Given the description of an element on the screen output the (x, y) to click on. 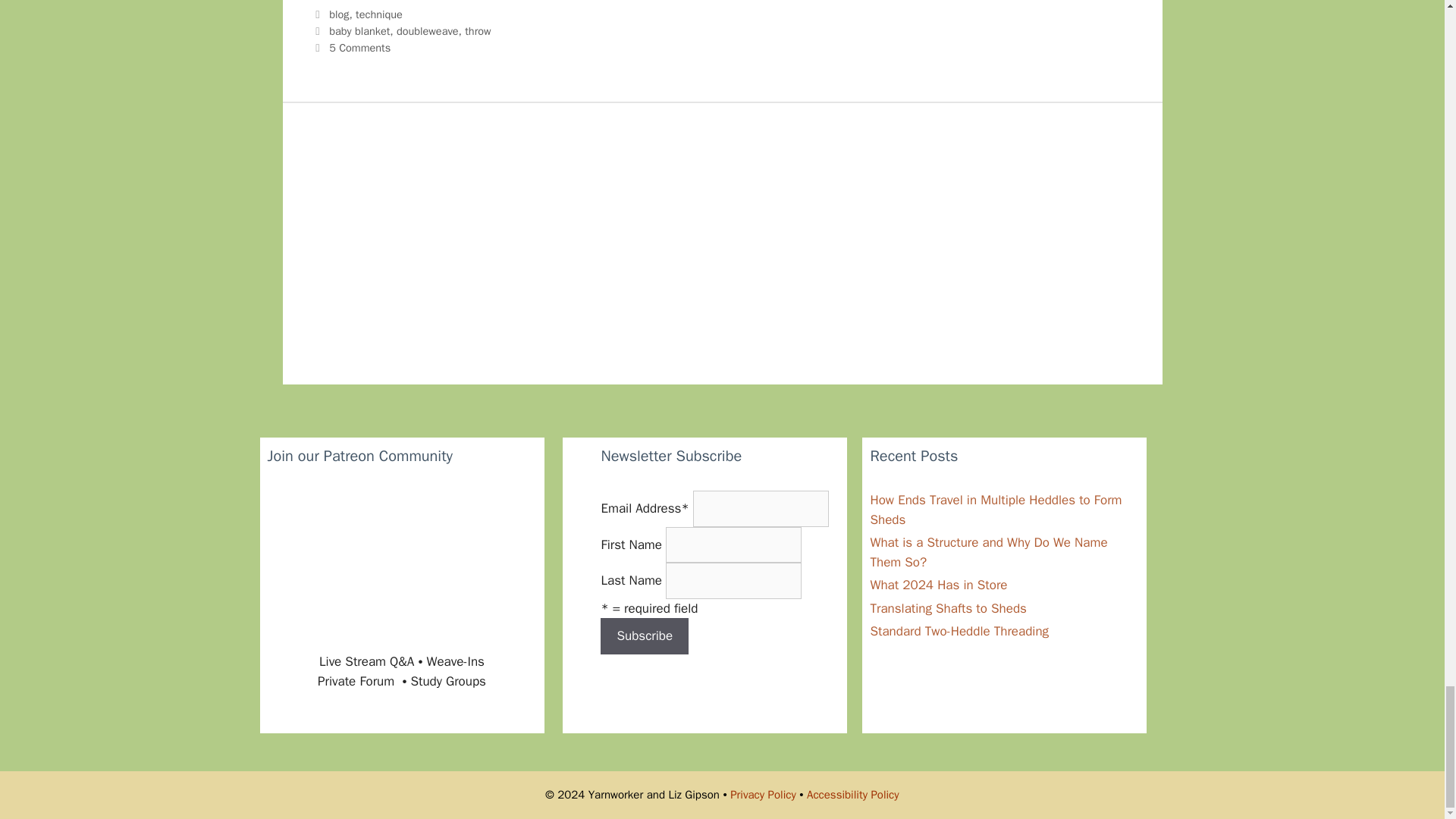
Subscribe (643, 636)
